Given the description of an element on the screen output the (x, y) to click on. 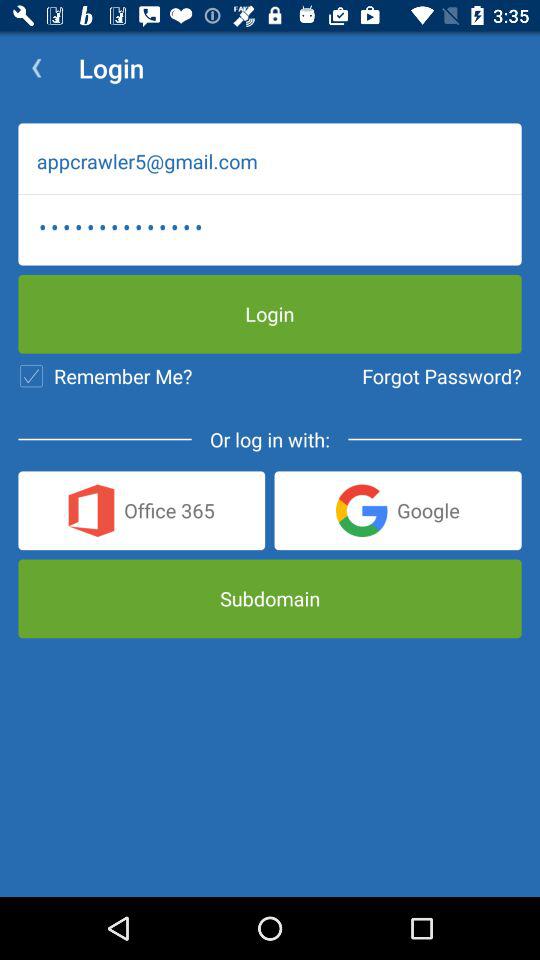
open the appcrawler3116 item (269, 227)
